Given the description of an element on the screen output the (x, y) to click on. 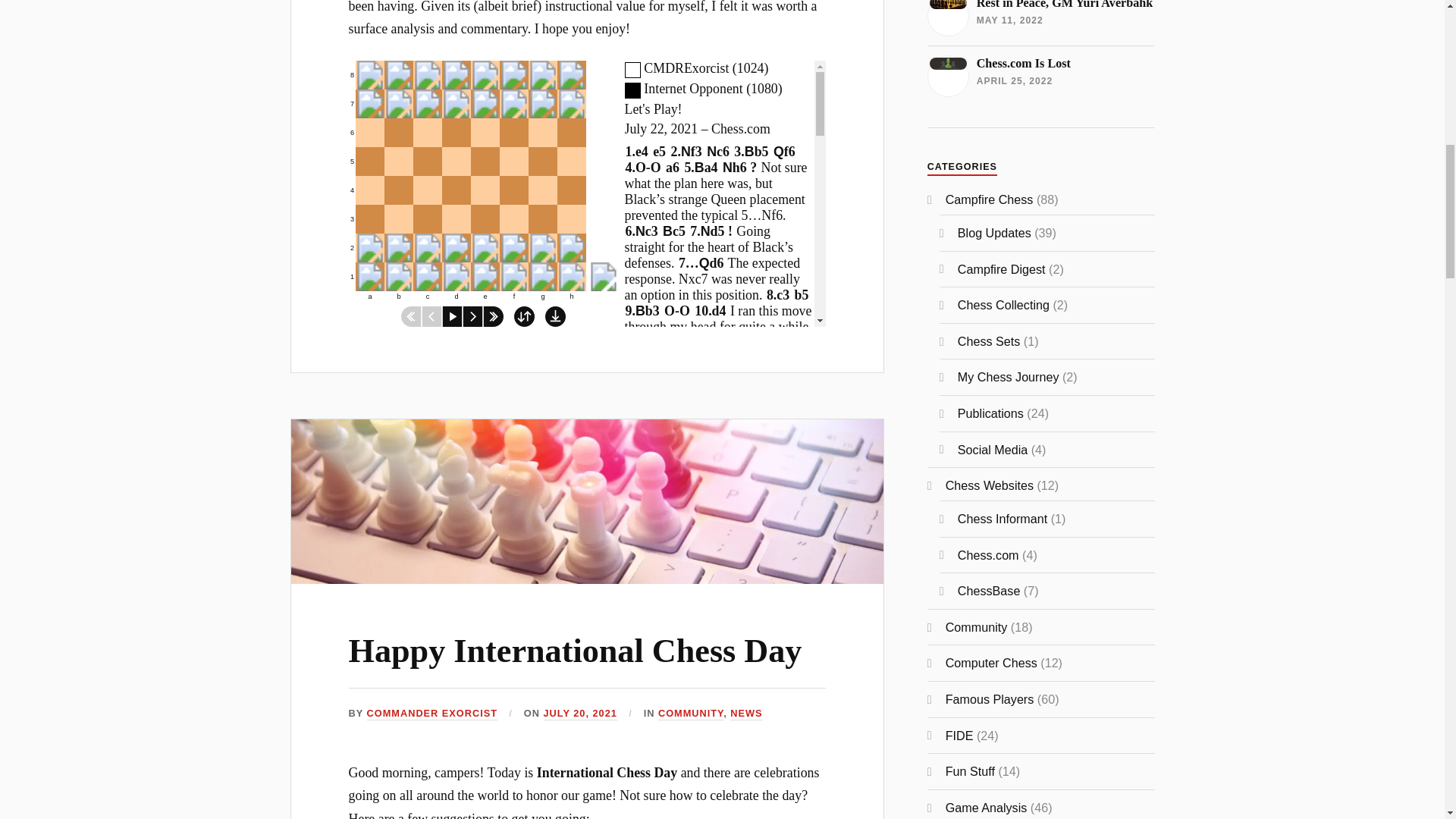
JULY 20, 2021 (579, 713)
NEWS (745, 713)
Go to the end of the game (493, 316)
Flip the board (523, 316)
Go to the beginning of the game (411, 316)
Download the game (483, 180)
Happy International Chess Day (483, 193)
Posts by Commander Exorcist (555, 316)
Go to the previous move (575, 650)
COMMUNITY (431, 713)
Go to the next move (432, 316)
COMMANDER EXORCIST (690, 713)
